Given the description of an element on the screen output the (x, y) to click on. 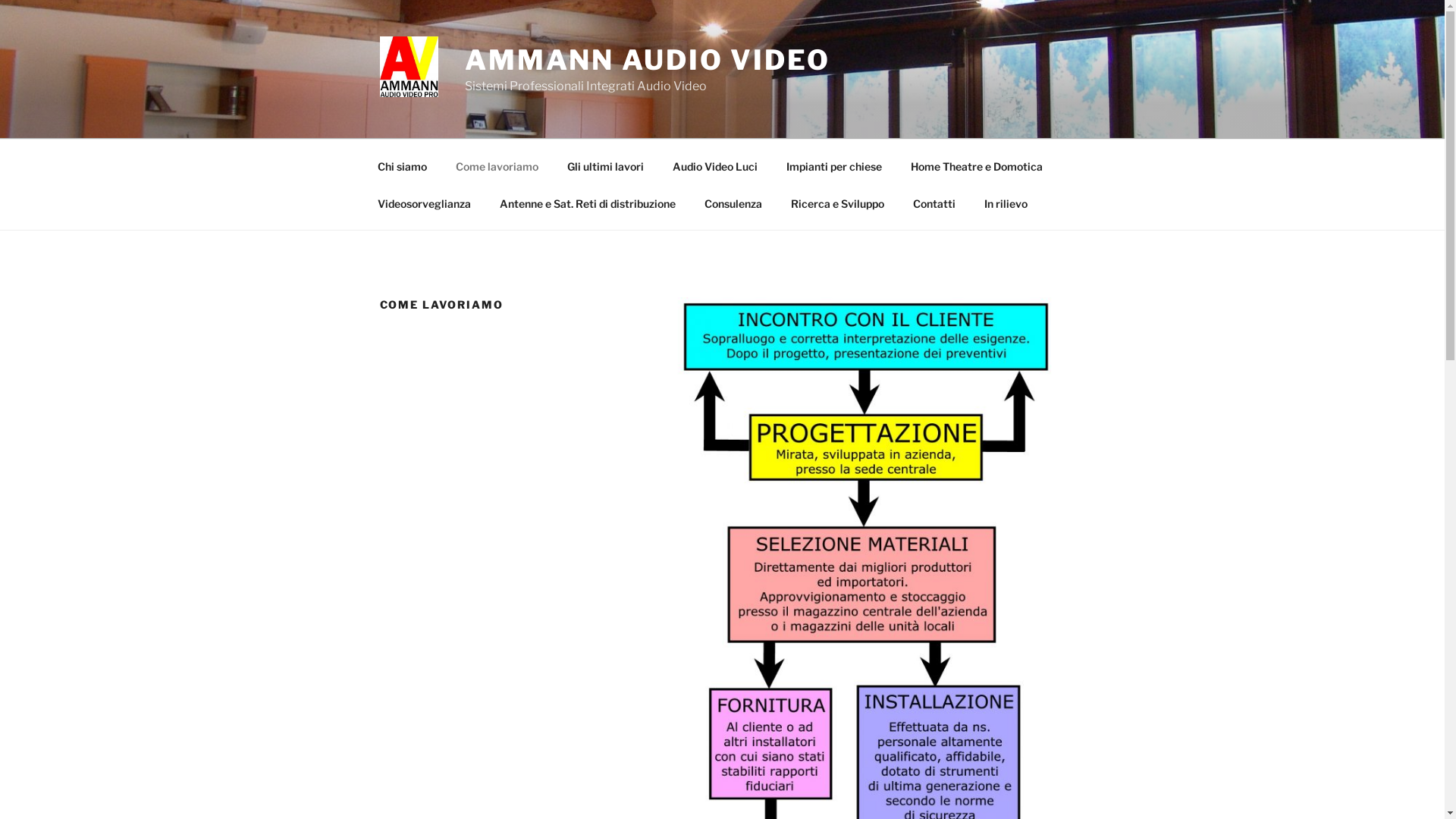
AMMANN AUDIO VIDEO Element type: text (647, 59)
In rilievo Element type: text (1005, 203)
Antenne e Sat. Reti di distribuzione Element type: text (587, 203)
Gli ultimi lavori Element type: text (604, 165)
Audio Video Luci Element type: text (715, 165)
Chi siamo Element type: text (401, 165)
Come lavoriamo Element type: text (497, 165)
Contatti Element type: text (933, 203)
Consulenza Element type: text (733, 203)
Ricerca e Sviluppo Element type: text (837, 203)
Impianti per chiese Element type: text (834, 165)
Home Theatre e Domotica Element type: text (976, 165)
Videosorveglianza Element type: text (423, 203)
